Given the description of an element on the screen output the (x, y) to click on. 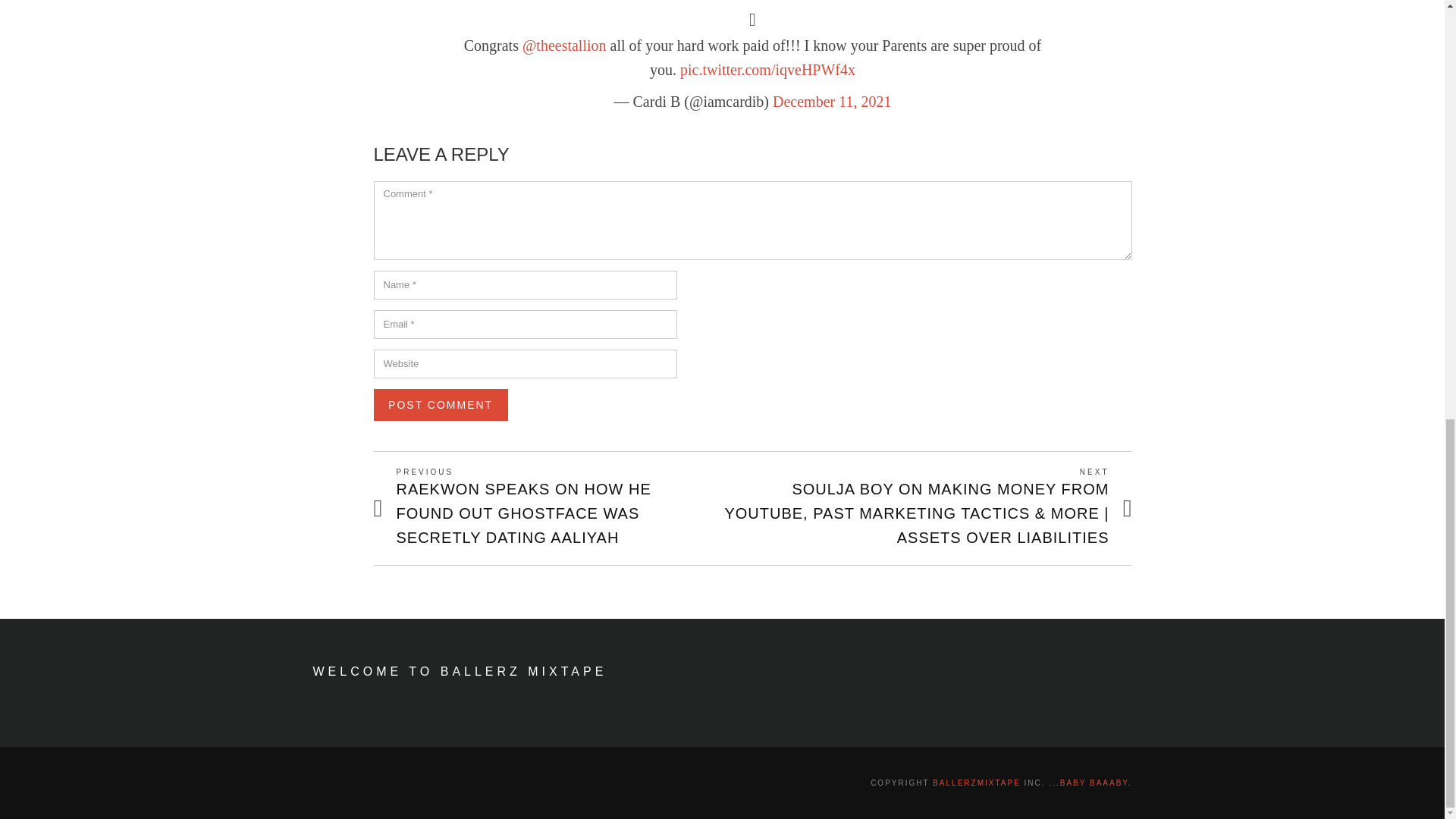
Post Comment (439, 404)
December 11, 2021 (832, 101)
Post Comment (439, 404)
BALLERZMIXTAPE (976, 782)
...BABY BAAABY (1087, 782)
